Given the description of an element on the screen output the (x, y) to click on. 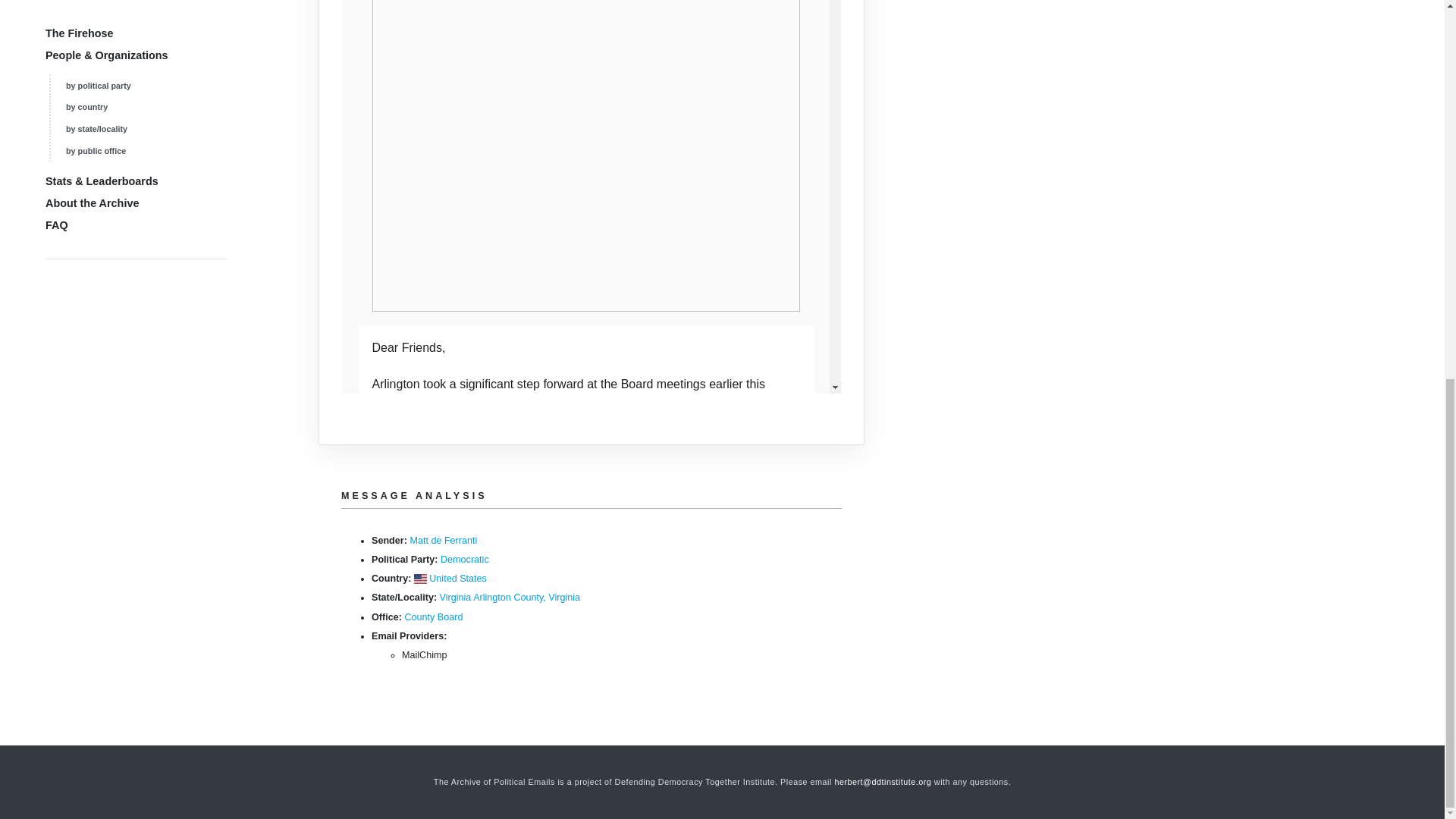
Virginia (455, 597)
United States (457, 578)
County Board (433, 616)
Arlington County, Virginia (526, 597)
Matt de Ferranti (443, 540)
Democratic (465, 559)
